Given the description of an element on the screen output the (x, y) to click on. 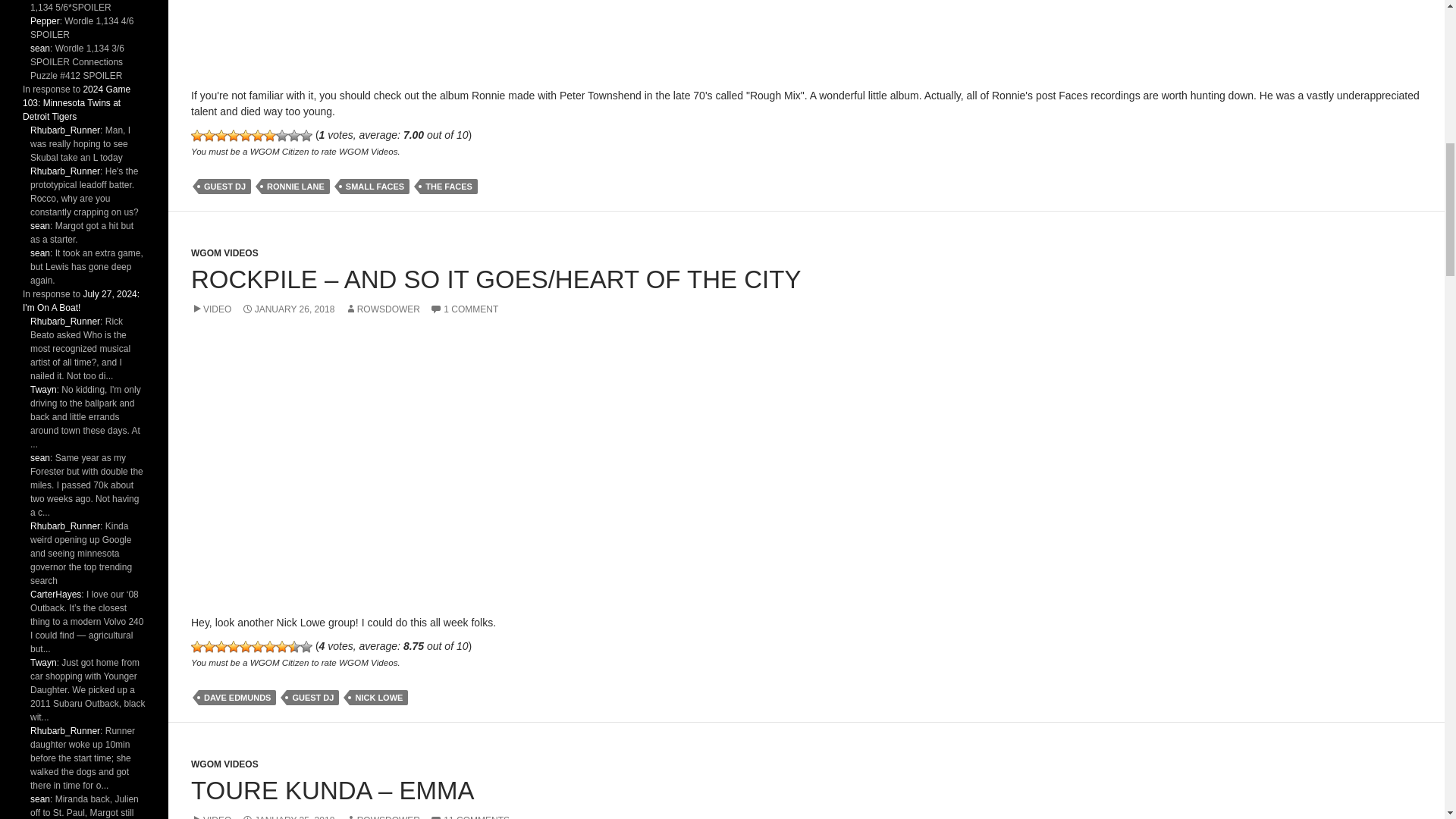
1 vote, average: 7.00 out of 10 (245, 135)
1 vote, average: 7.00 out of 10 (233, 135)
1 vote, average: 7.00 out of 10 (221, 135)
1 vote, average: 7.00 out of 10 (196, 135)
1 vote, average: 7.00 out of 10 (209, 135)
